Given the description of an element on the screen output the (x, y) to click on. 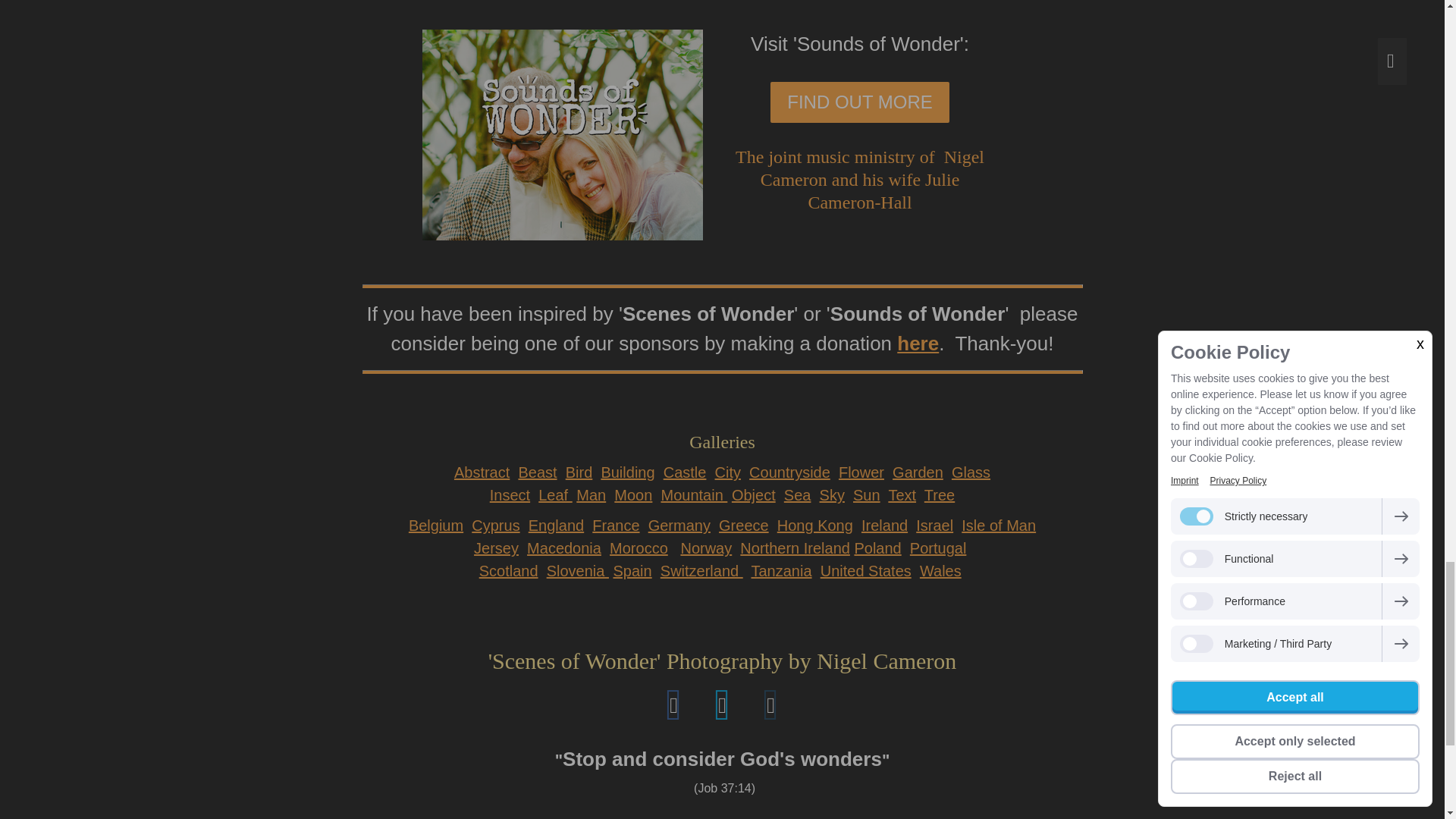
Insect (509, 494)
Flower (860, 472)
Abstract (481, 472)
Man (590, 494)
Bird (579, 472)
Country (789, 472)
Building (626, 472)
Leaf (555, 494)
Sea (797, 494)
Mountain (693, 494)
City (727, 472)
Glass (971, 472)
Object (754, 494)
Sky (831, 494)
Moon (633, 494)
